Given the description of an element on the screen output the (x, y) to click on. 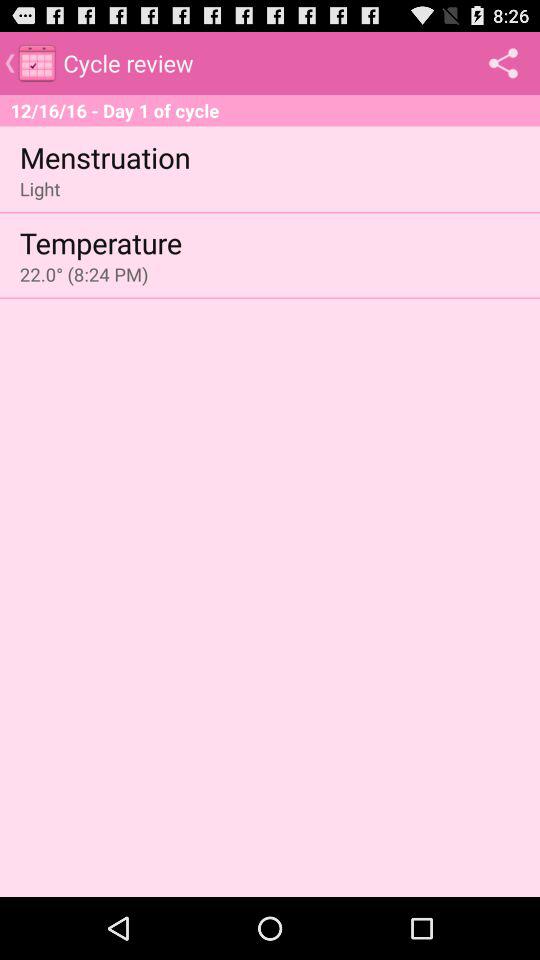
click item below temperature item (83, 273)
